Given the description of an element on the screen output the (x, y) to click on. 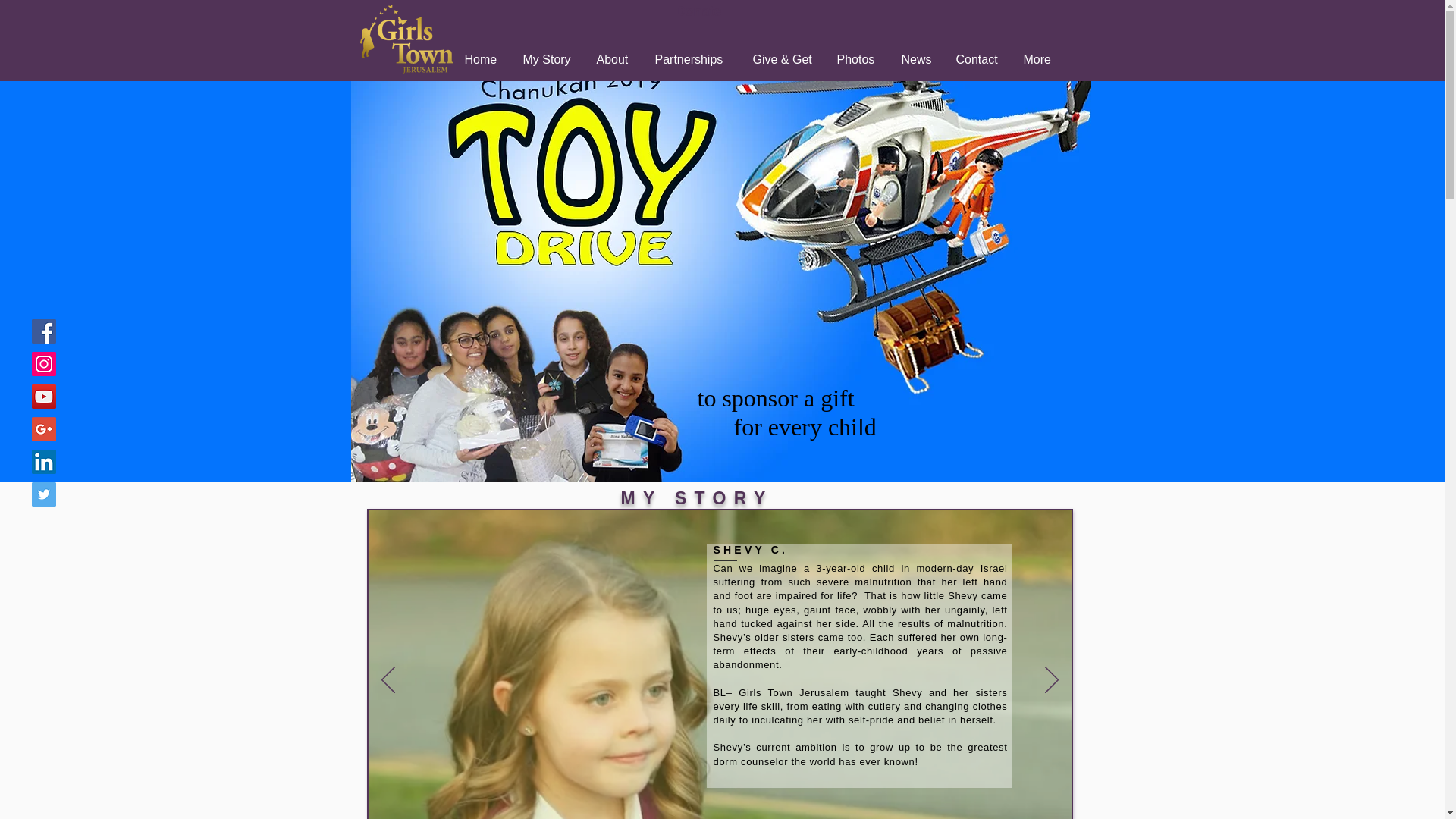
Home (482, 59)
My Story (548, 59)
Photos (857, 59)
About (614, 59)
News (916, 59)
Donate (697, 11)
Contact (977, 59)
